Given the description of an element on the screen output the (x, y) to click on. 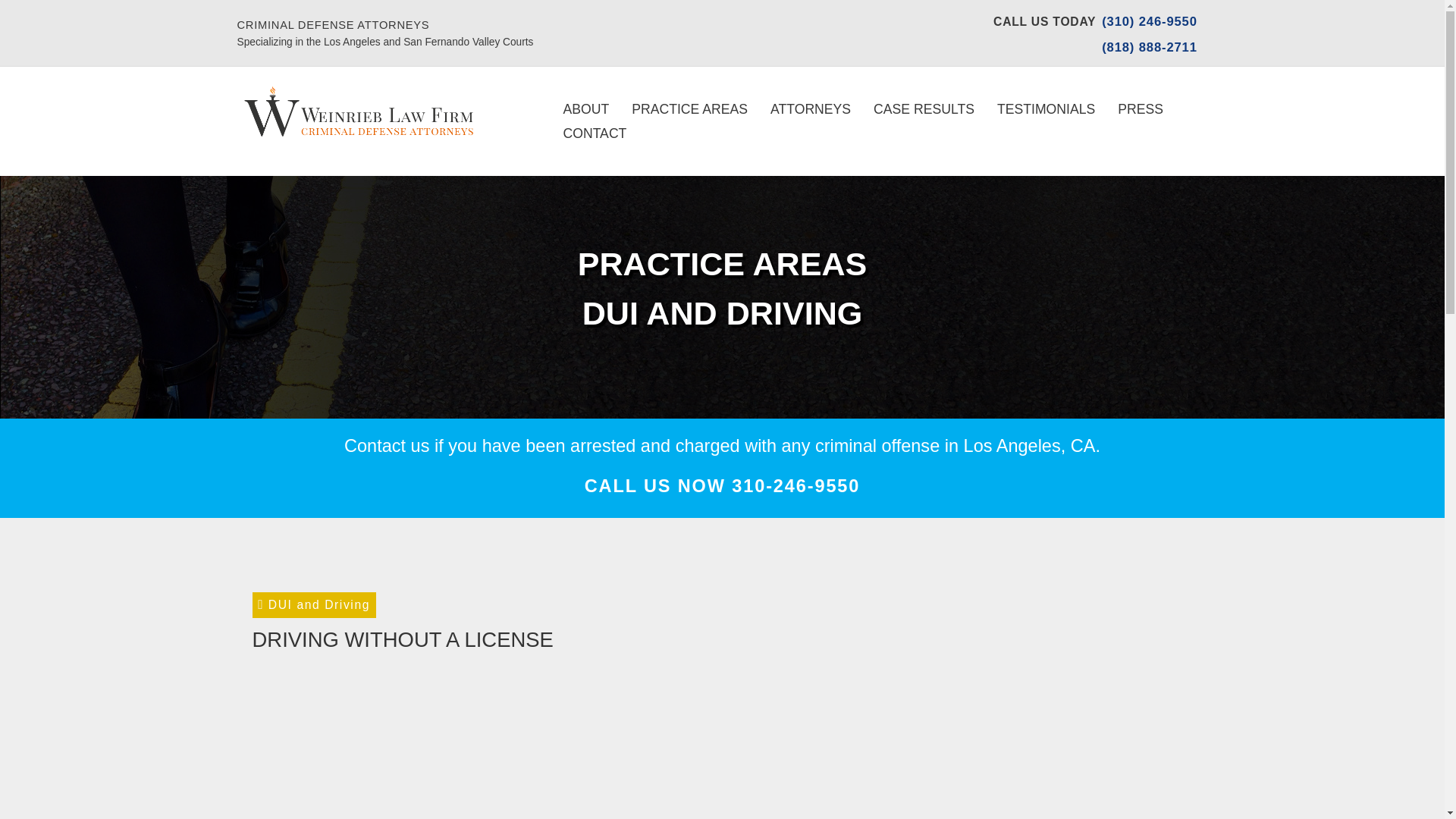
CASE RESULTS (923, 109)
ATTORNEYS (809, 109)
ABOUT (586, 109)
TESTIMONIALS (1045, 109)
PRESS (1140, 109)
CONTACT (595, 132)
Weinrieb Law Firm (357, 113)
PRACTICE AREAS (689, 109)
